Given the description of an element on the screen output the (x, y) to click on. 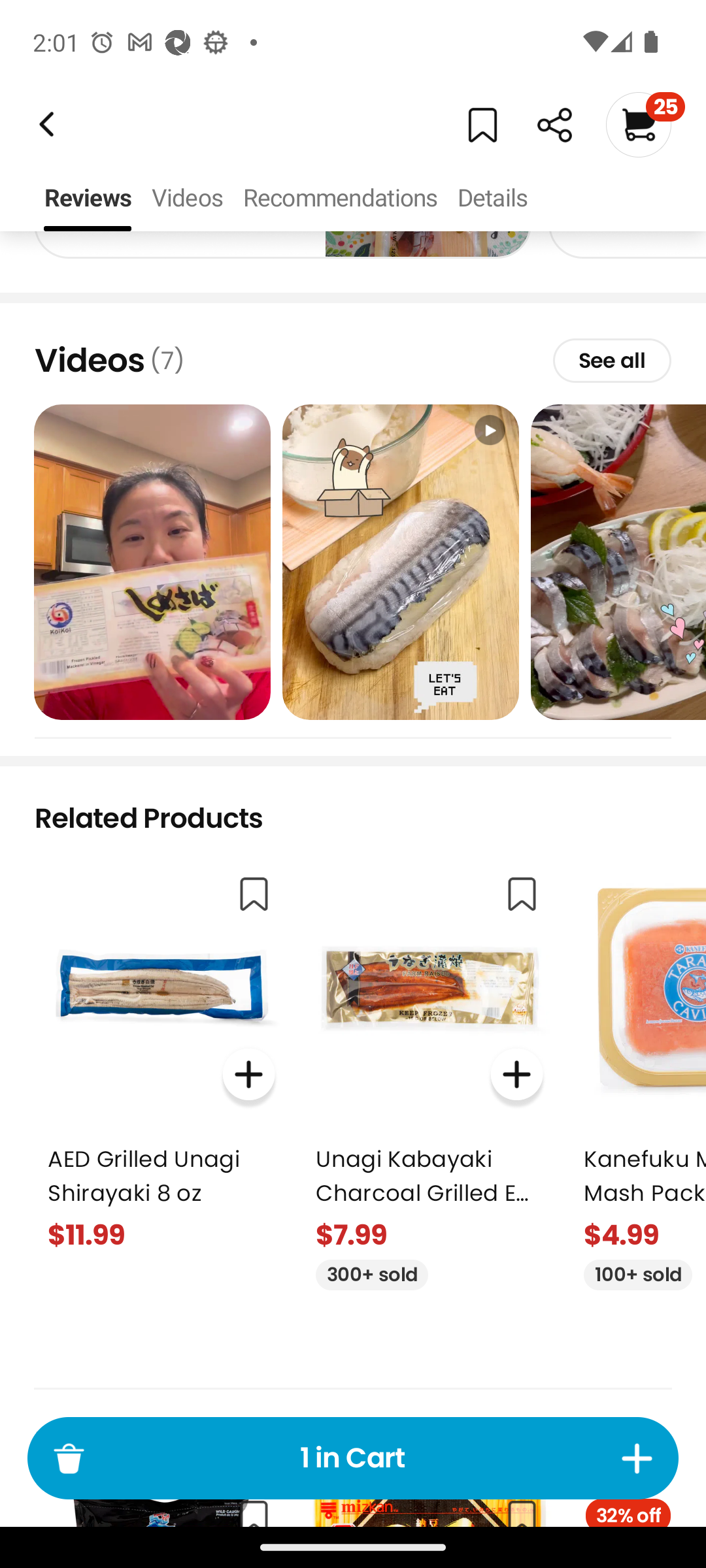
25 (644, 124)
Weee! (45, 124)
Weee! (554, 125)
Reviews (87, 199)
Videos (186, 199)
Recommendations (339, 199)
Details (491, 199)
See all (611, 360)
AED Grilled Unagi Shirayaki 8 oz $11.99 (160, 1056)
1 in Cart (352, 1458)
